Given the description of an element on the screen output the (x, y) to click on. 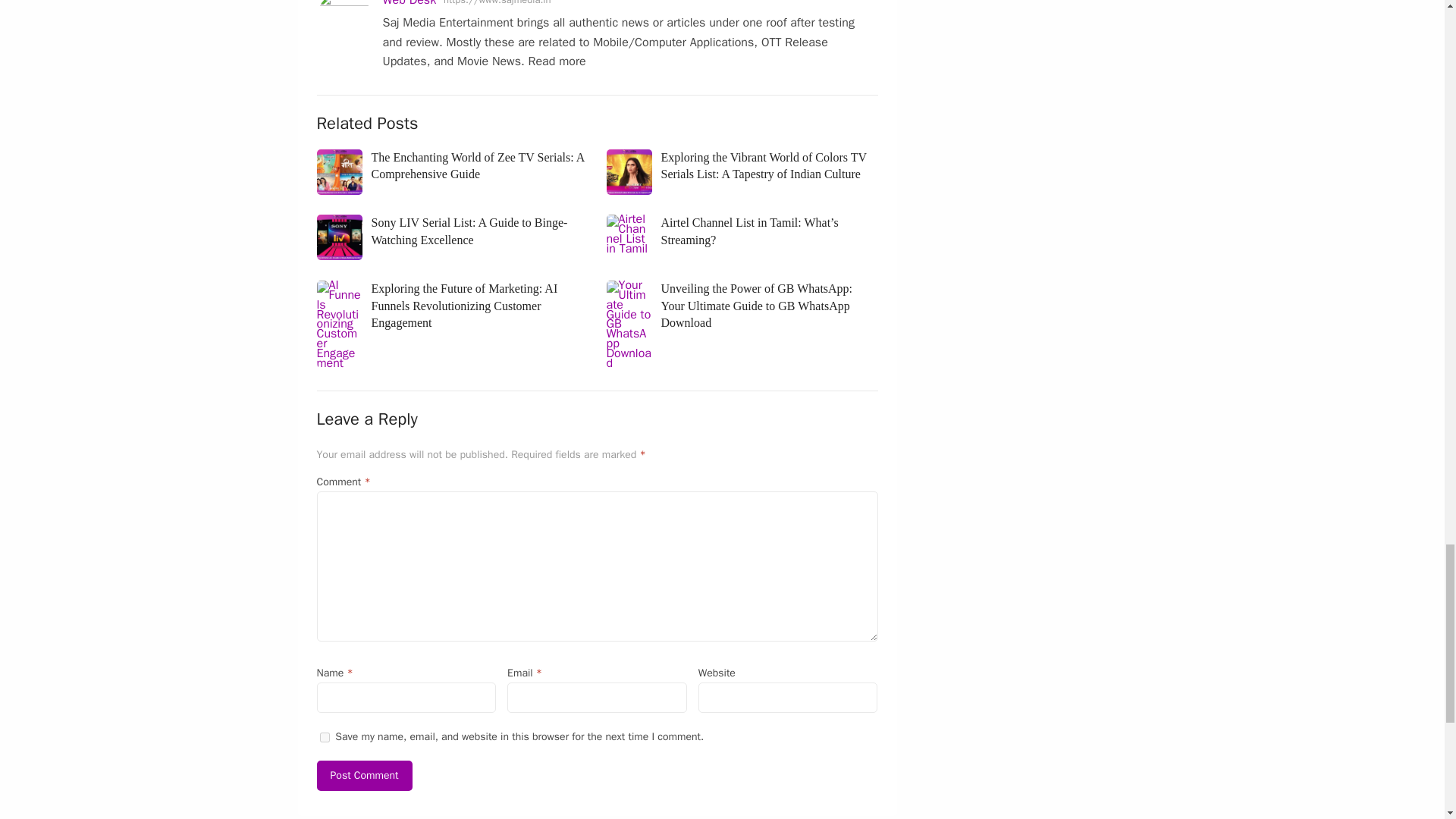
yes (325, 737)
Post Comment (364, 775)
